Given the description of an element on the screen output the (x, y) to click on. 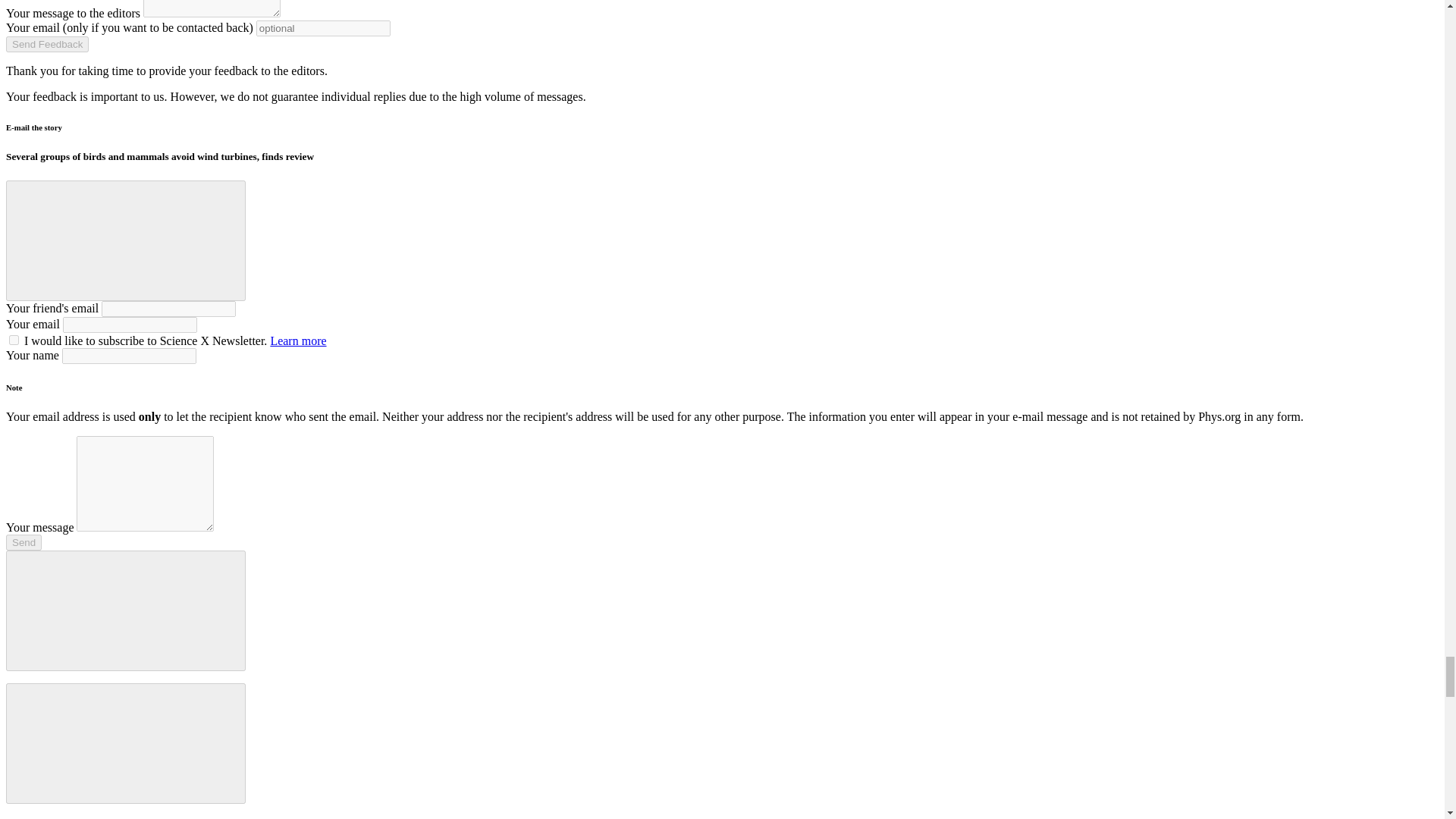
1 (13, 339)
